Given the description of an element on the screen output the (x, y) to click on. 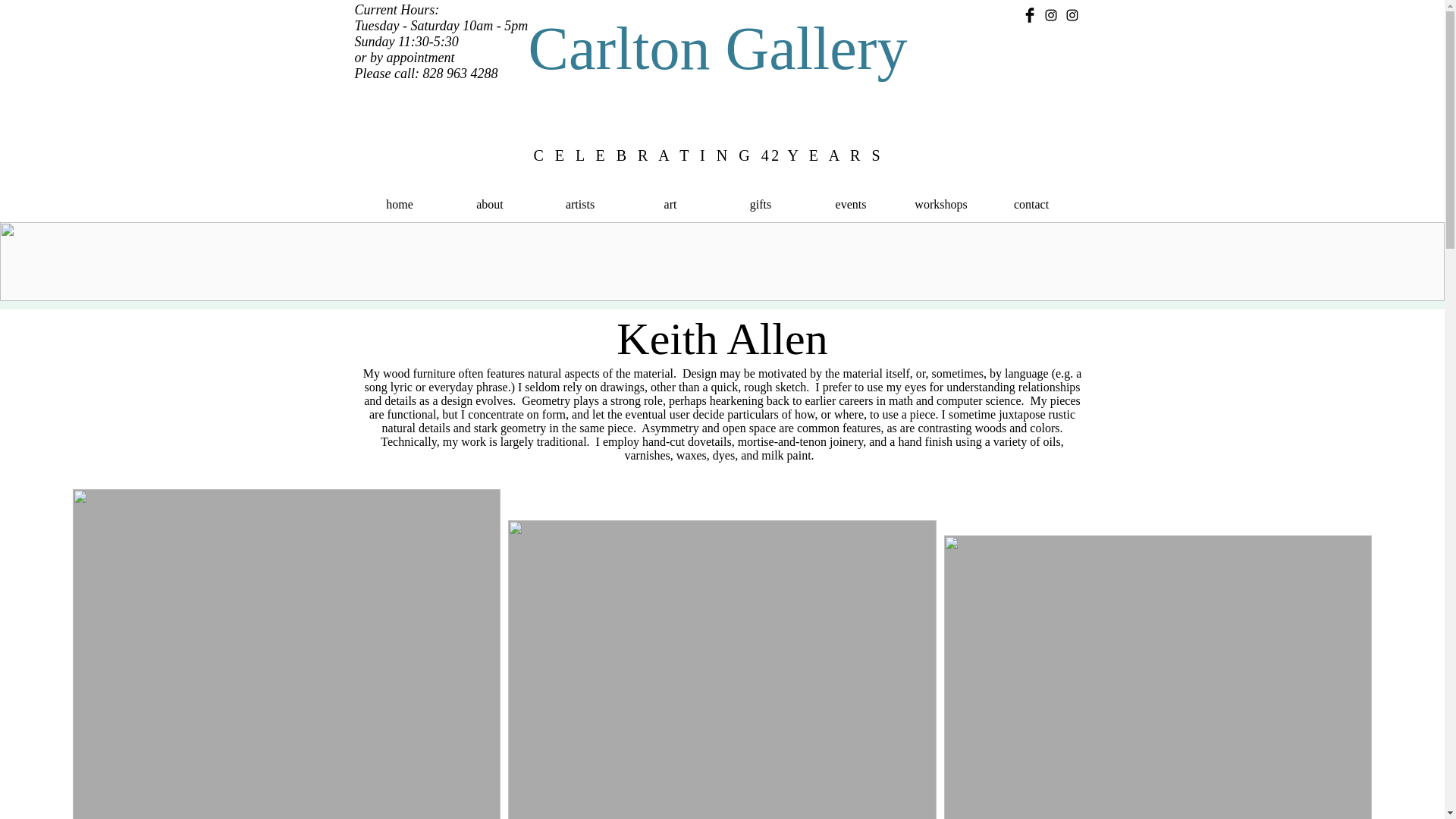
about (489, 204)
artists (580, 204)
Carlton Gallery (717, 48)
home (400, 204)
